Given the description of an element on the screen output the (x, y) to click on. 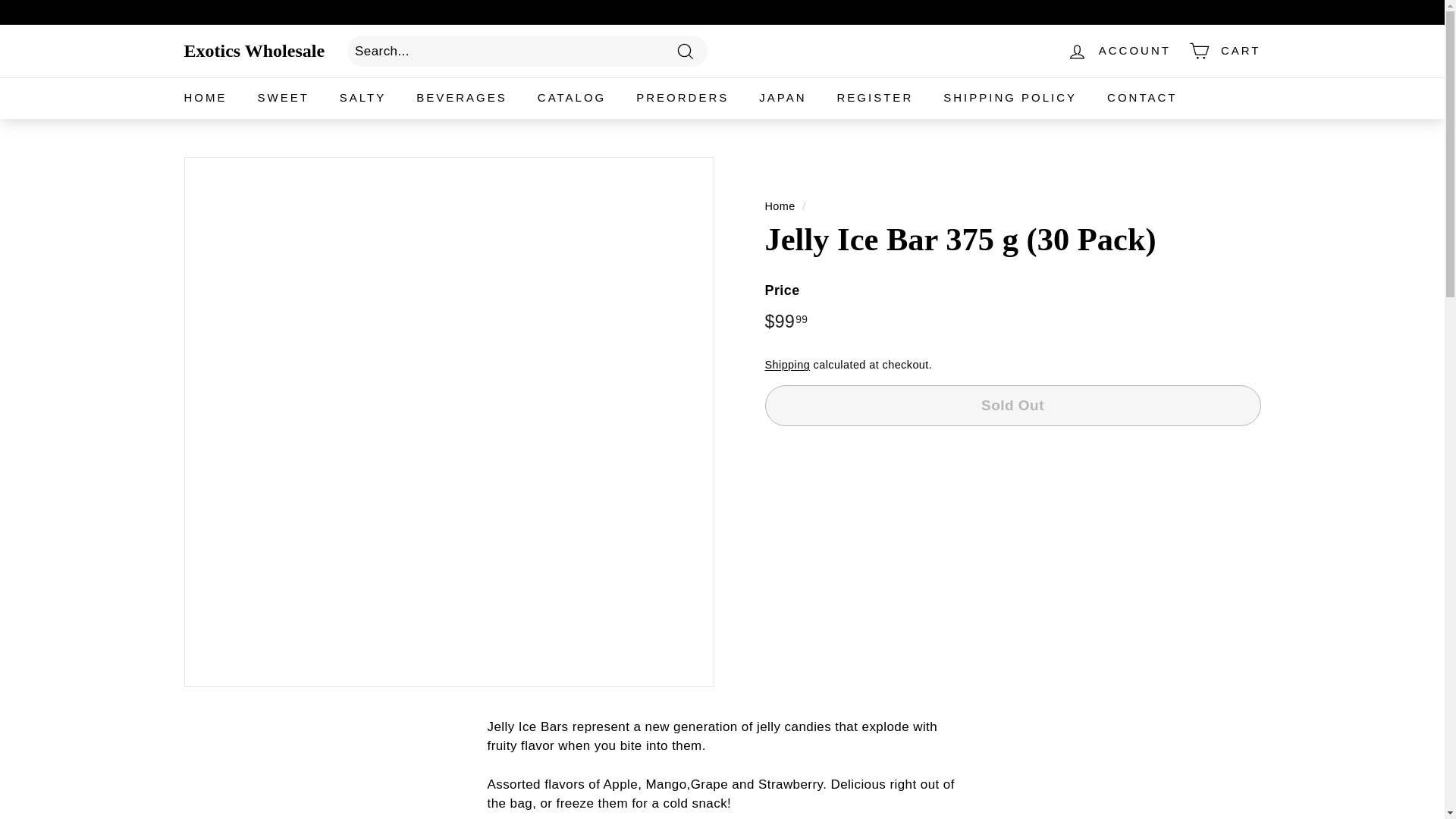
ACCOUNT (1118, 50)
Exotics Wholesale (253, 50)
SWEET (283, 97)
Back to the frontpage (779, 205)
HOME (204, 97)
